Given the description of an element on the screen output the (x, y) to click on. 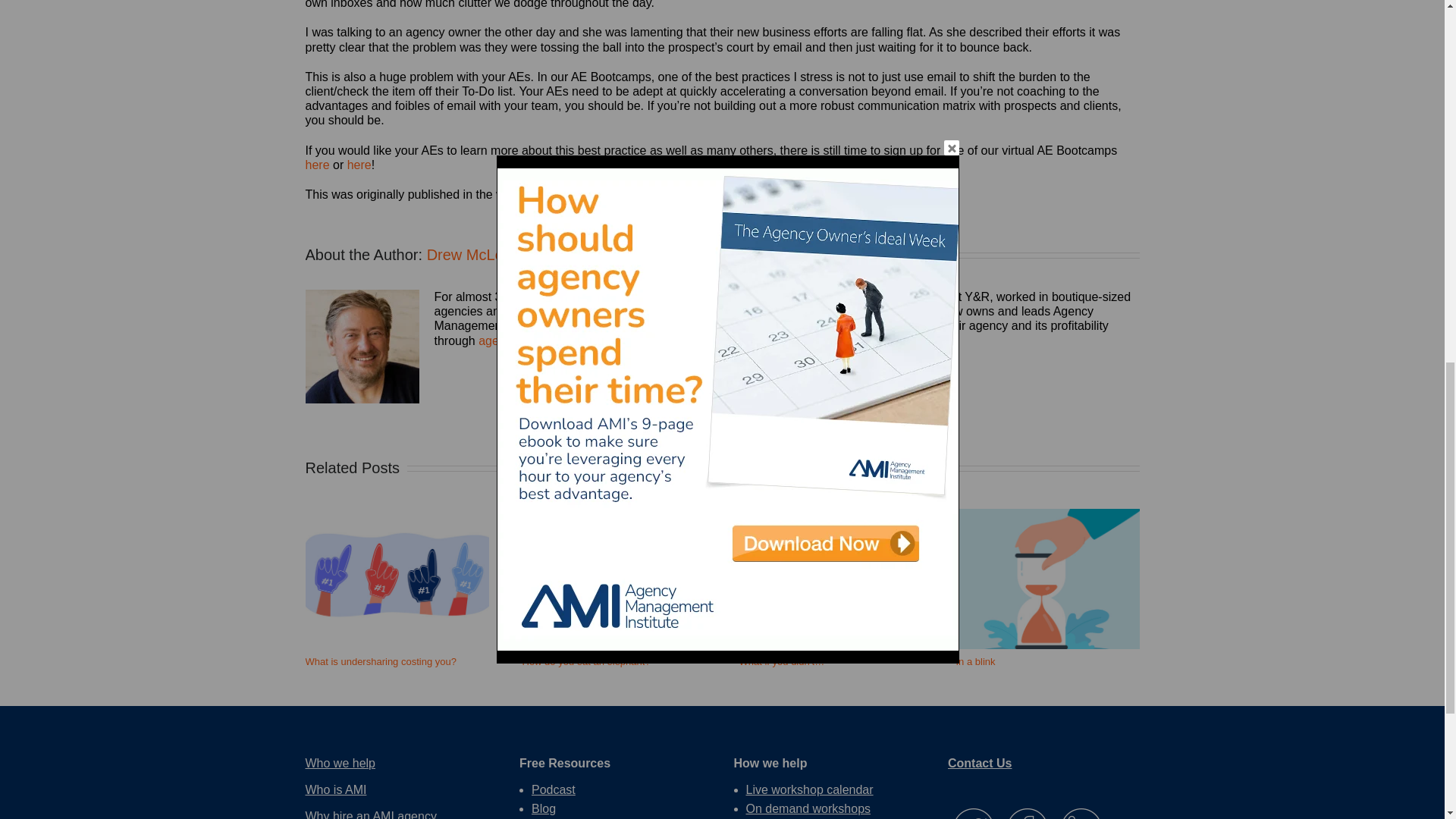
Posts by Drew McLellan (476, 254)
In a blink (974, 661)
How do you eat an elephant? (585, 661)
What is undersharing costing you? (379, 661)
